Given the description of an element on the screen output the (x, y) to click on. 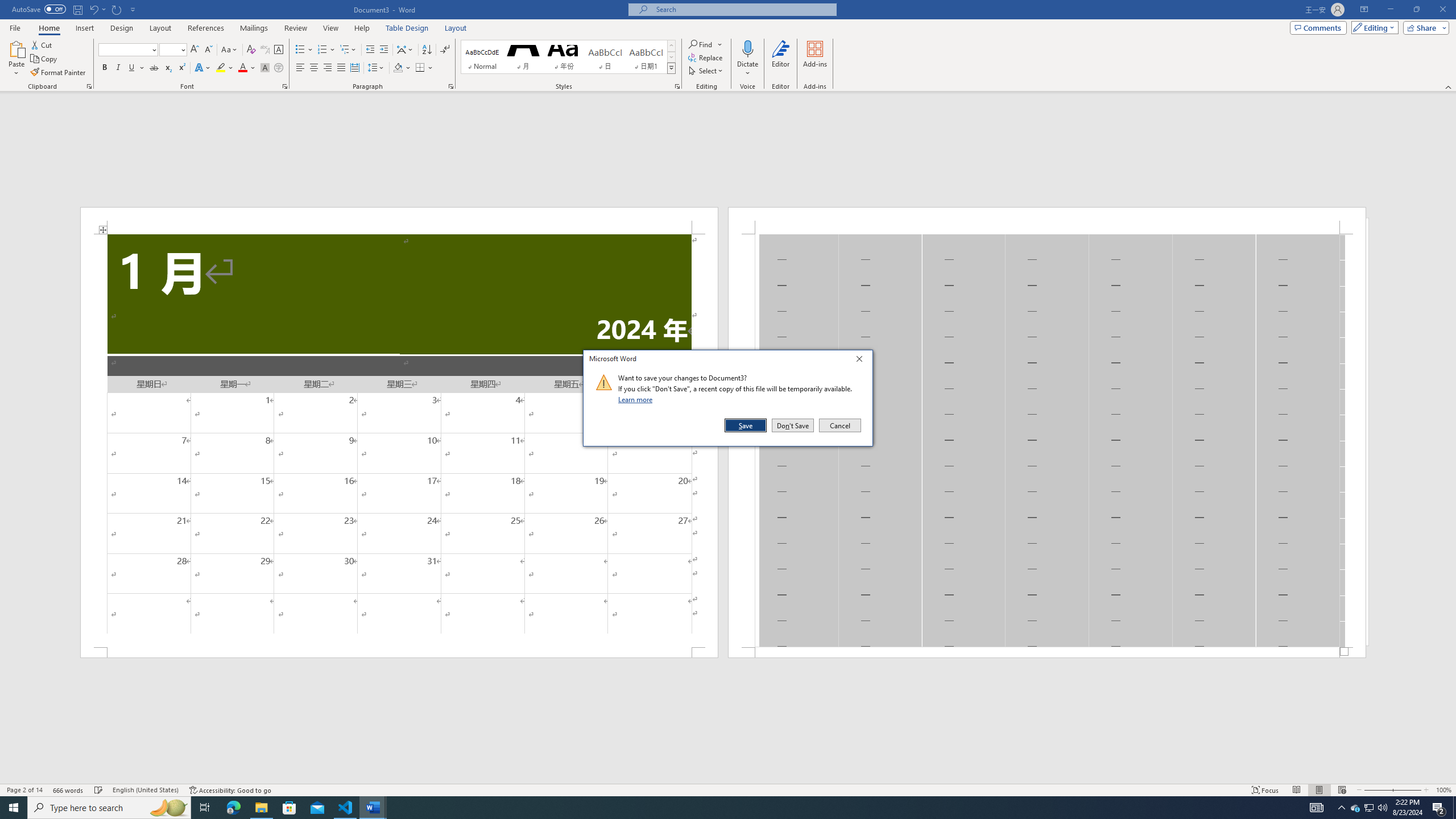
Asian Layout (405, 49)
Replace... (705, 56)
Subscript (167, 67)
Bold (104, 67)
Text Highlight Color (224, 67)
Phonetic Guide... (264, 49)
Align Left (300, 67)
Multilevel List (347, 49)
